Given the description of an element on the screen output the (x, y) to click on. 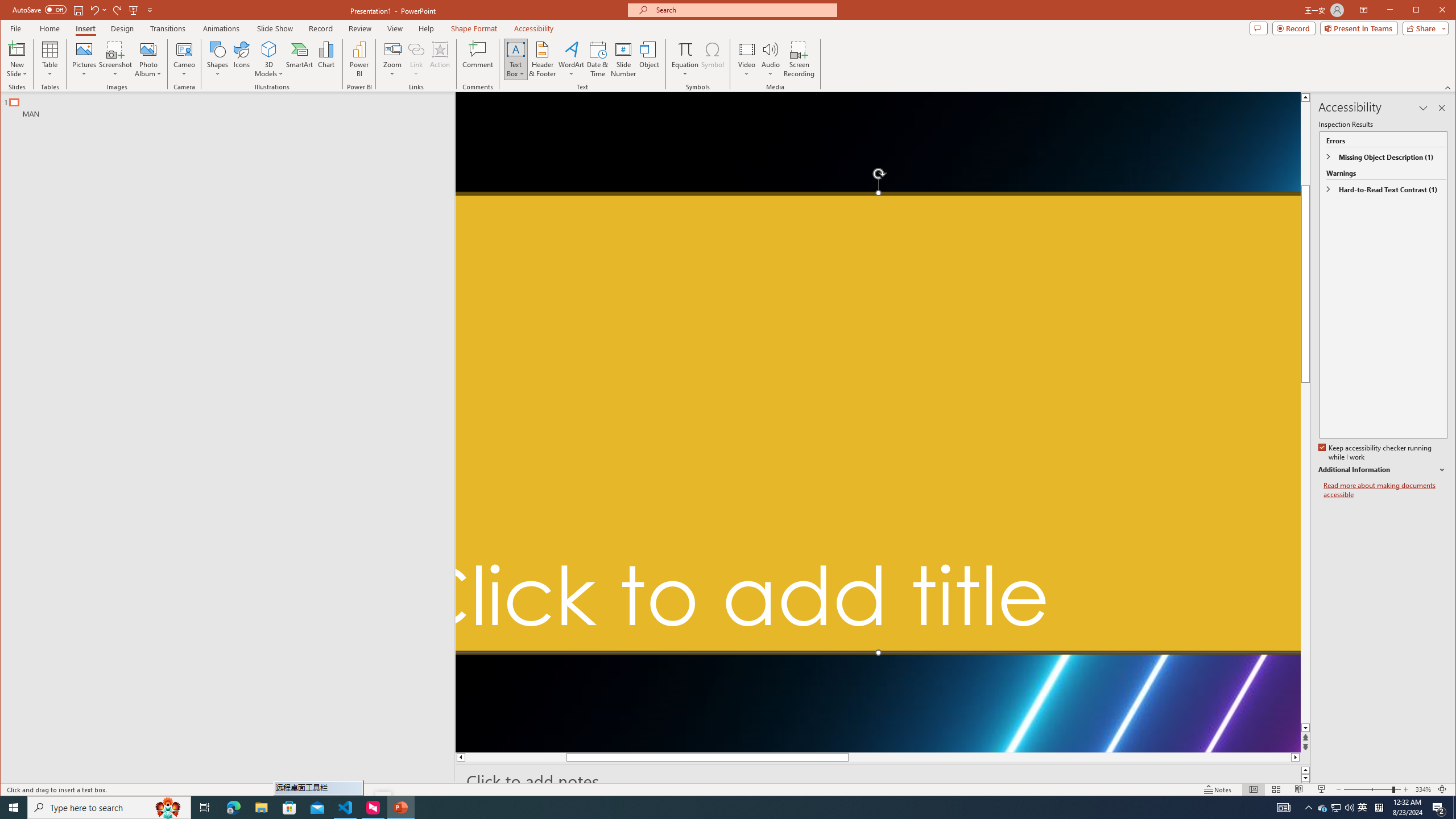
3D Models (269, 59)
Link (416, 48)
